Given the description of an element on the screen output the (x, y) to click on. 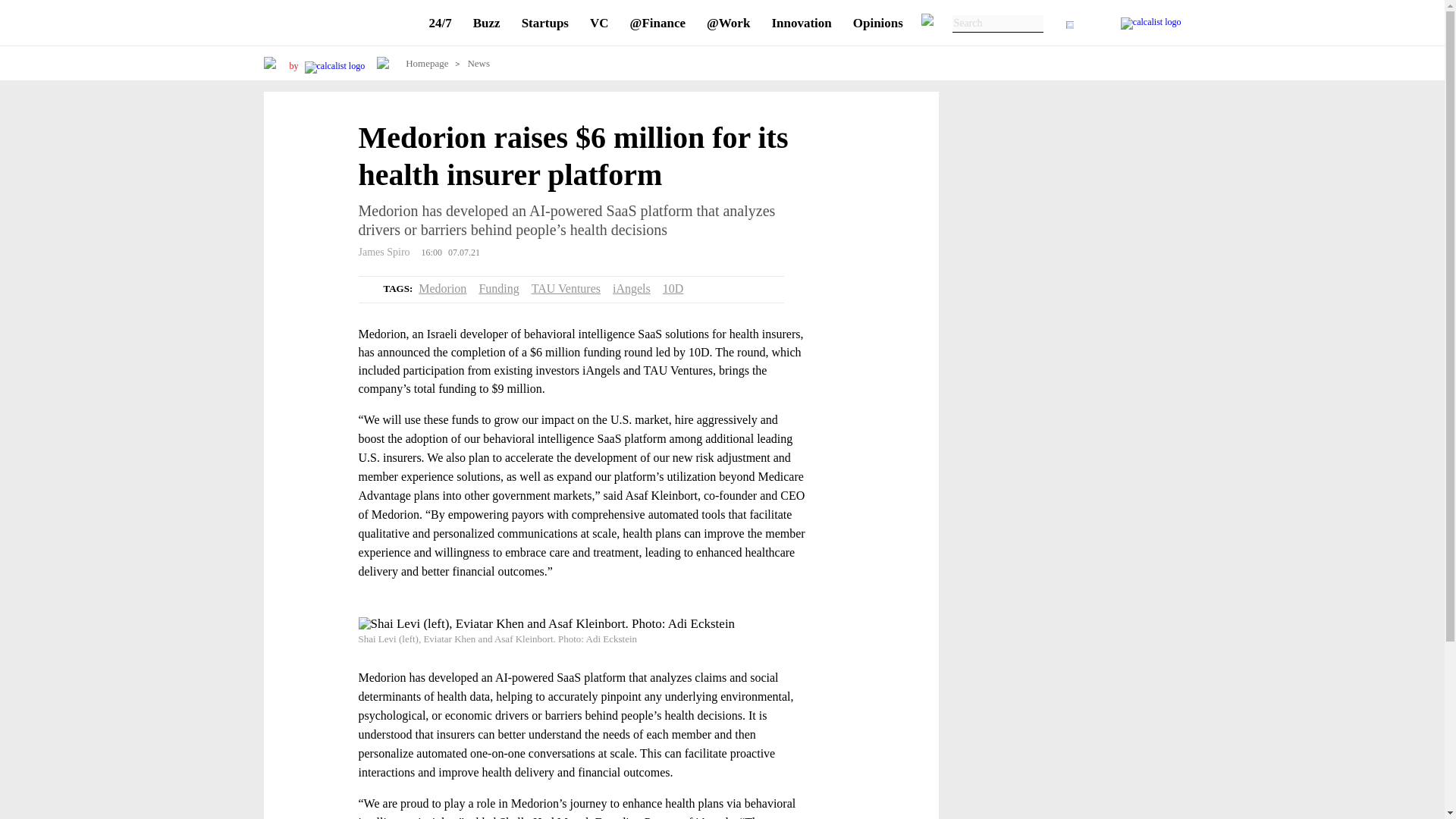
Opinions (877, 23)
Finance (657, 23)
Facebook (311, 140)
Innovation (801, 23)
Work (727, 23)
CTech (338, 22)
10D (673, 287)
Medorion (442, 287)
VC (598, 23)
Innovation (801, 23)
